Given the description of an element on the screen output the (x, y) to click on. 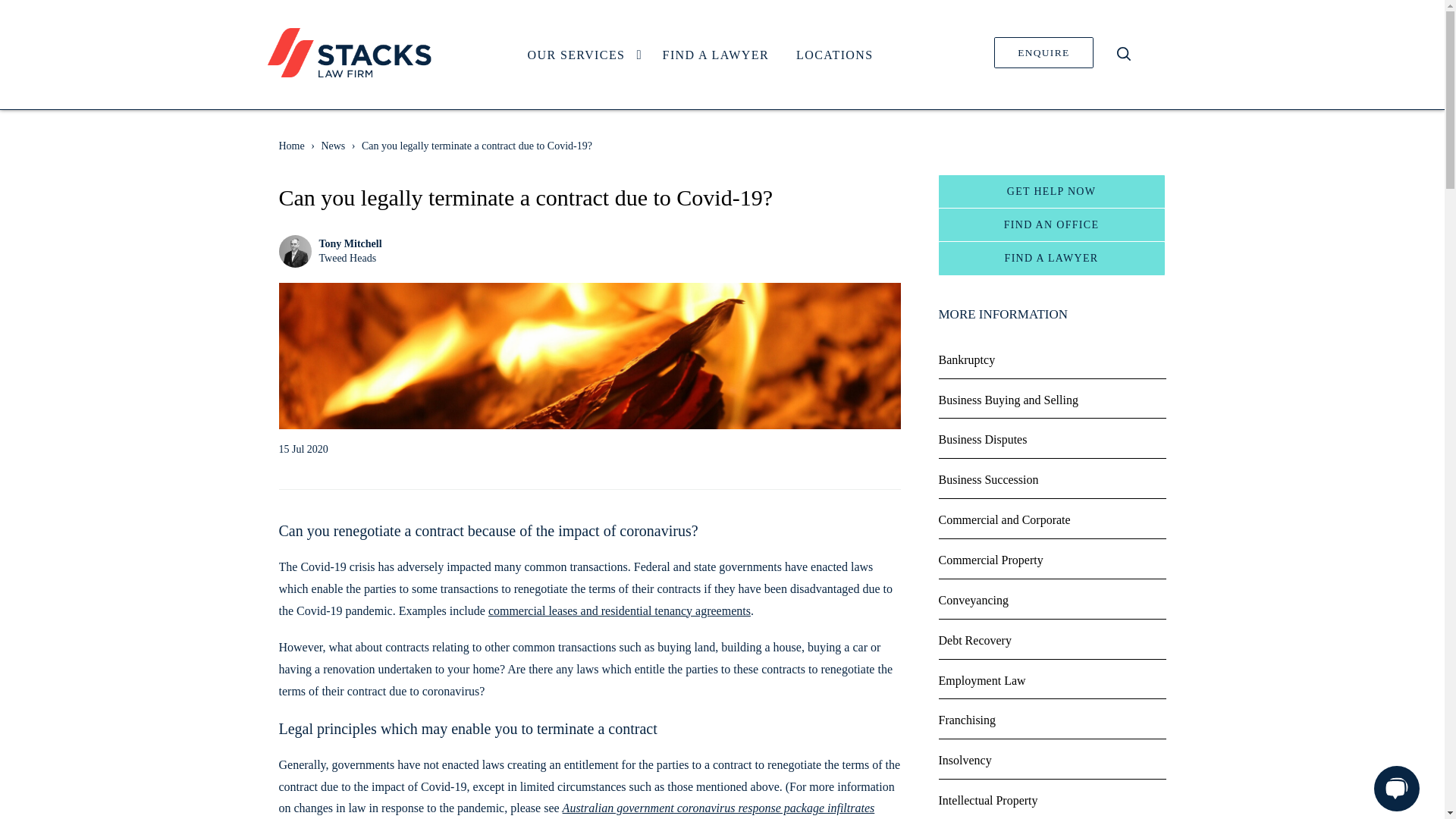
OUR SERVICES (581, 54)
LOCATIONS (834, 54)
ENQUIRE (1043, 52)
News (332, 145)
Tony Mitchell (349, 244)
Home (699, 56)
Tweed Heads (291, 145)
FIND A LAWYER (349, 258)
Stacks Law Firm (716, 54)
